Given the description of an element on the screen output the (x, y) to click on. 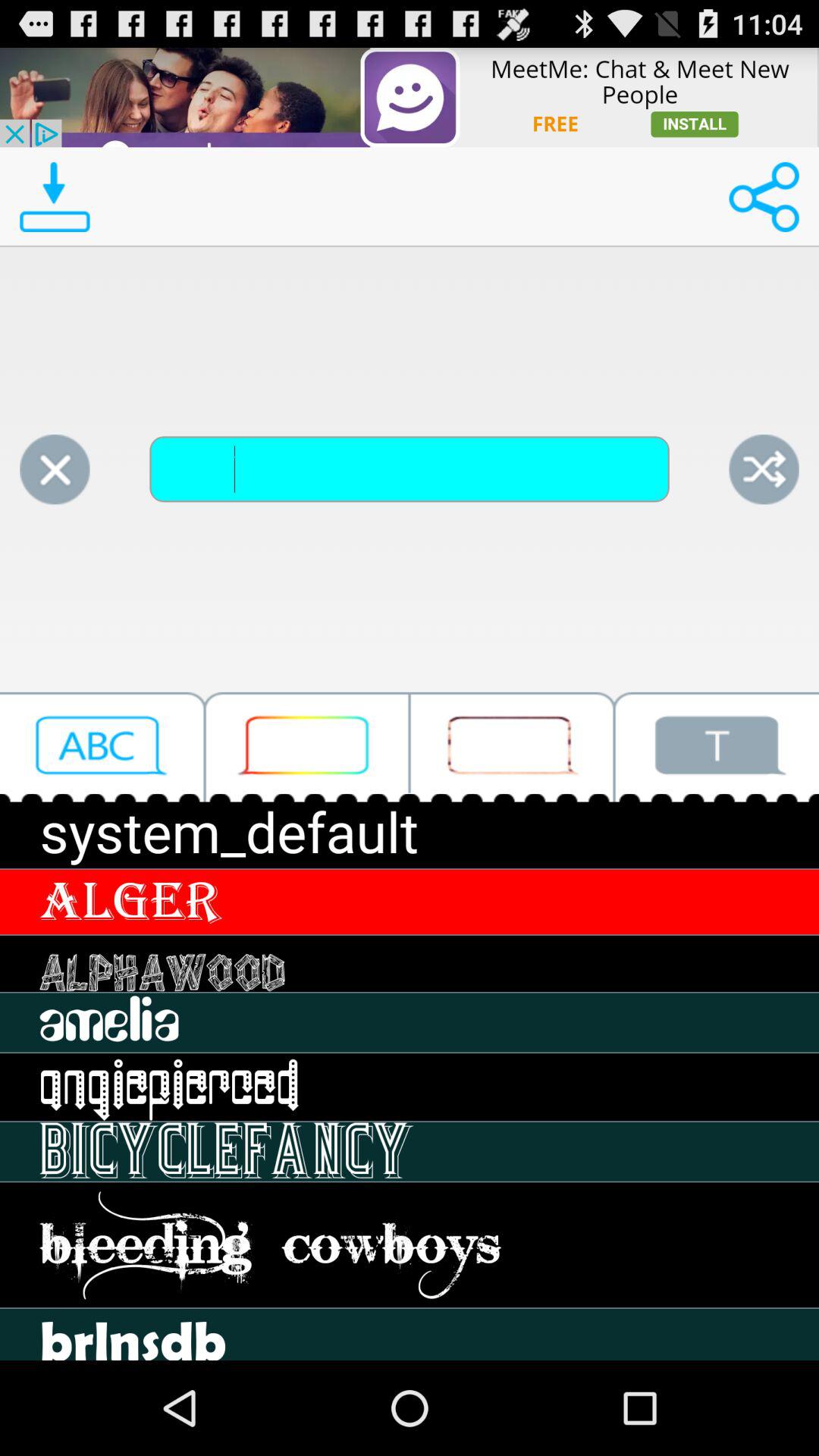
cancel search (54, 469)
